Given the description of an element on the screen output the (x, y) to click on. 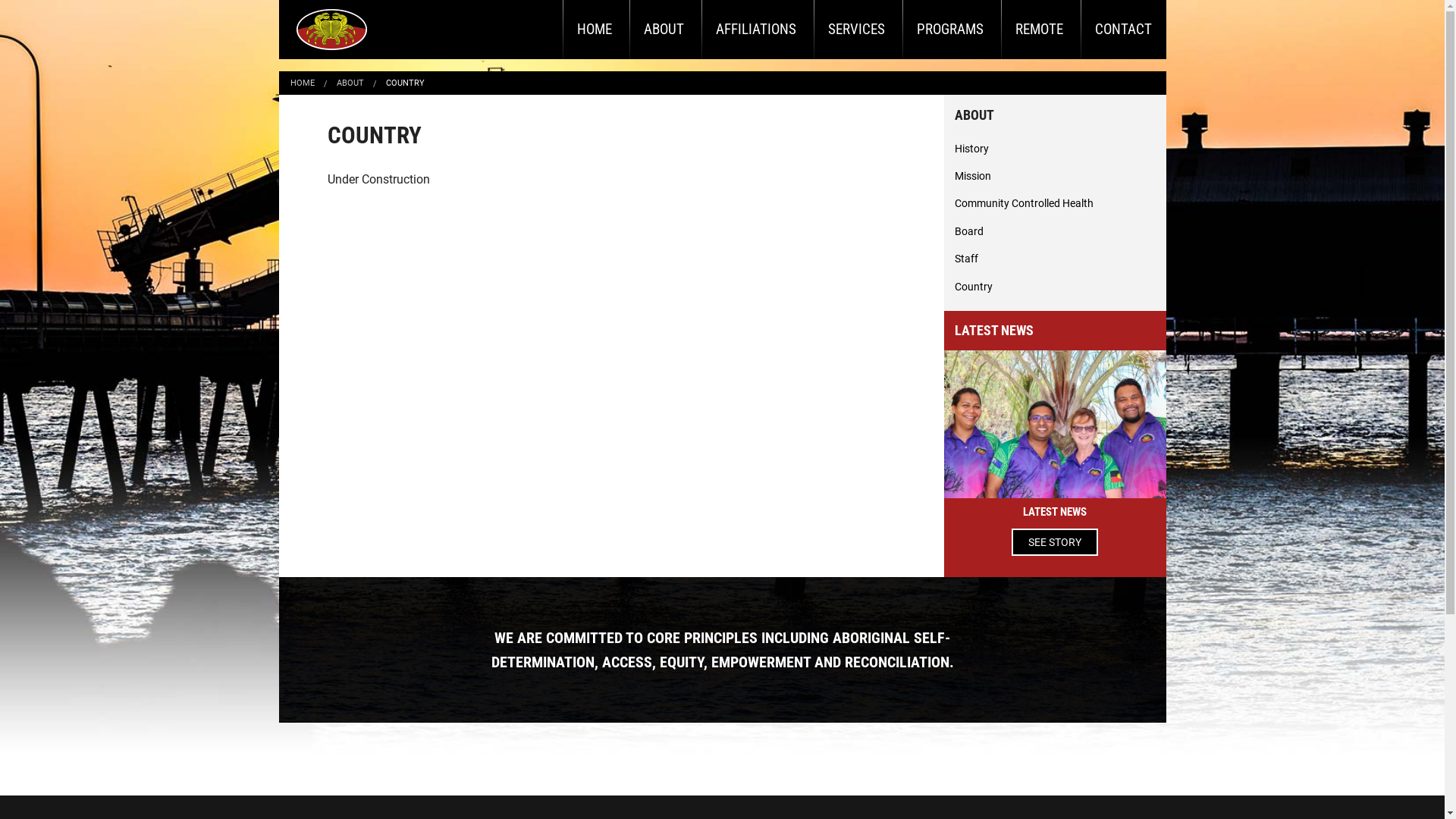
History Element type: text (1055, 148)
CONTACT Element type: text (1122, 28)
AFFILIATIONS Element type: text (754, 28)
HOME Element type: text (594, 28)
LATEST NEWS Element type: text (1054, 511)
REMOTE Element type: text (1039, 28)
Country Element type: text (1055, 286)
ABOUT Element type: text (663, 28)
Mission Element type: text (1055, 175)
COUNTRY Element type: text (404, 82)
Community Controlled Health Element type: text (1055, 202)
ABOUT Element type: text (350, 82)
SEE STORY Element type: text (1054, 541)
Board Element type: text (1055, 230)
Staff Element type: text (1055, 258)
HOME Element type: text (301, 82)
PROGRAMS Element type: text (949, 28)
SERVICES Element type: text (855, 28)
